Given the description of an element on the screen output the (x, y) to click on. 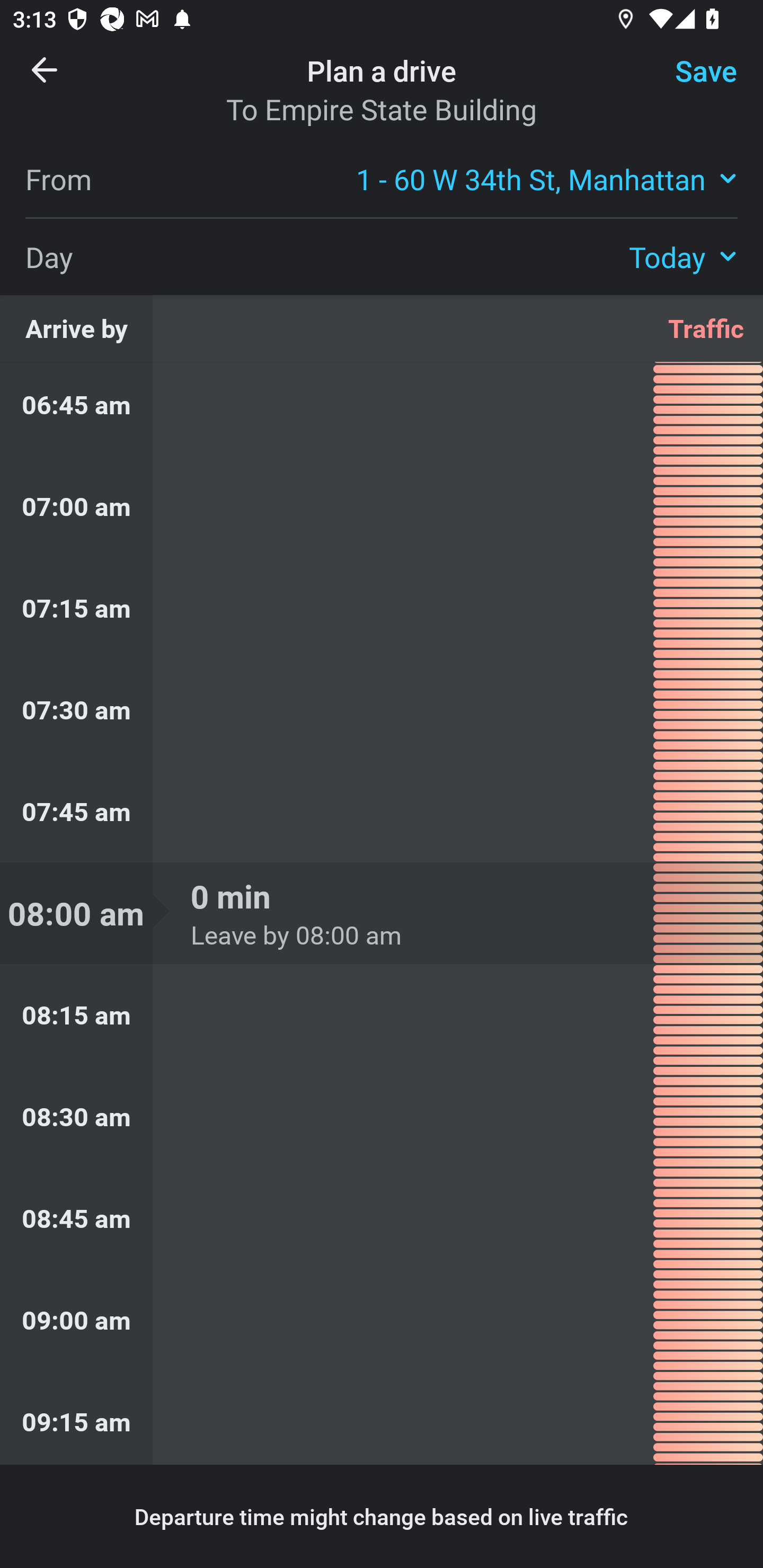
Settings (690, 82)
1 - 60 W 34th St, Manhattan (546, 178)
Today (682, 255)
06:45 am (381, 409)
07:00 am (381, 506)
07:15 am (381, 607)
07:30 am (381, 709)
07:45 am (381, 811)
08:00 am 0 min Leave by 08:00 am (381, 913)
08:15 am (381, 1015)
08:30 am (381, 1117)
08:45 am (381, 1218)
09:00 am (381, 1319)
09:15 am (381, 1417)
